Given the description of an element on the screen output the (x, y) to click on. 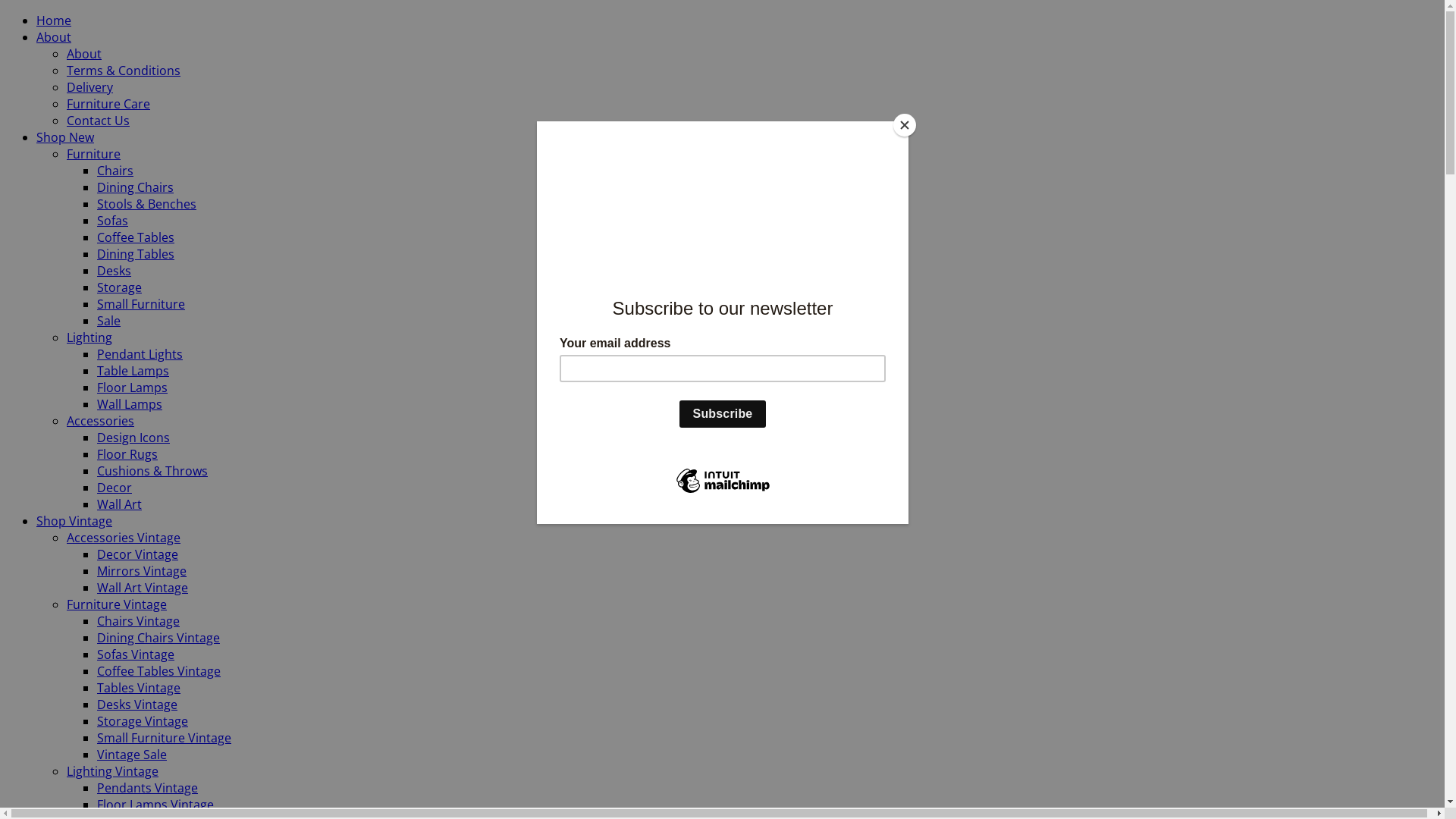
Wall Art Element type: text (119, 503)
Floor Lamps Element type: text (132, 387)
Pendants Vintage Element type: text (147, 787)
About Element type: text (83, 53)
Decor Vintage Element type: text (137, 554)
Dining Chairs Element type: text (135, 186)
Terms & Conditions Element type: text (123, 70)
Wall Art Vintage Element type: text (142, 587)
Cushions & Throws Element type: text (152, 470)
Contact Us Element type: text (97, 120)
Home Element type: text (53, 20)
Floor Rugs Element type: text (127, 453)
Sofas Element type: text (112, 220)
Shop Vintage Element type: text (74, 520)
Vintage Sale Element type: text (131, 754)
Table Lamps Element type: text (133, 370)
Small Furniture Element type: text (141, 303)
Decor Element type: text (114, 487)
Furniture Care Element type: text (108, 103)
Mirrors Vintage Element type: text (141, 570)
Accessories Element type: text (100, 420)
Shop New Element type: text (65, 136)
Wall Lamps Element type: text (129, 403)
Stools & Benches Element type: text (146, 203)
Floor Lamps Vintage Element type: text (155, 804)
Sofas Vintage Element type: text (135, 654)
Coffee Tables Element type: text (135, 237)
Delivery Element type: text (89, 86)
Lighting Element type: text (89, 337)
Small Furniture Vintage Element type: text (164, 737)
Coffee Tables Vintage Element type: text (158, 670)
About Element type: text (53, 36)
Dining Chairs Vintage Element type: text (158, 637)
Dining Tables Element type: text (135, 253)
Storage Vintage Element type: text (142, 720)
Furniture Vintage Element type: text (116, 604)
Storage Element type: text (119, 287)
Furniture Element type: text (93, 153)
Desks Element type: text (114, 270)
Sale Element type: text (108, 320)
Chairs Vintage Element type: text (138, 620)
Desks Vintage Element type: text (137, 704)
Design Icons Element type: text (133, 437)
Lighting Vintage Element type: text (112, 770)
Tables Vintage Element type: text (138, 687)
Pendant Lights Element type: text (139, 353)
Chairs Element type: text (115, 170)
Accessories Vintage Element type: text (123, 537)
